Given the description of an element on the screen output the (x, y) to click on. 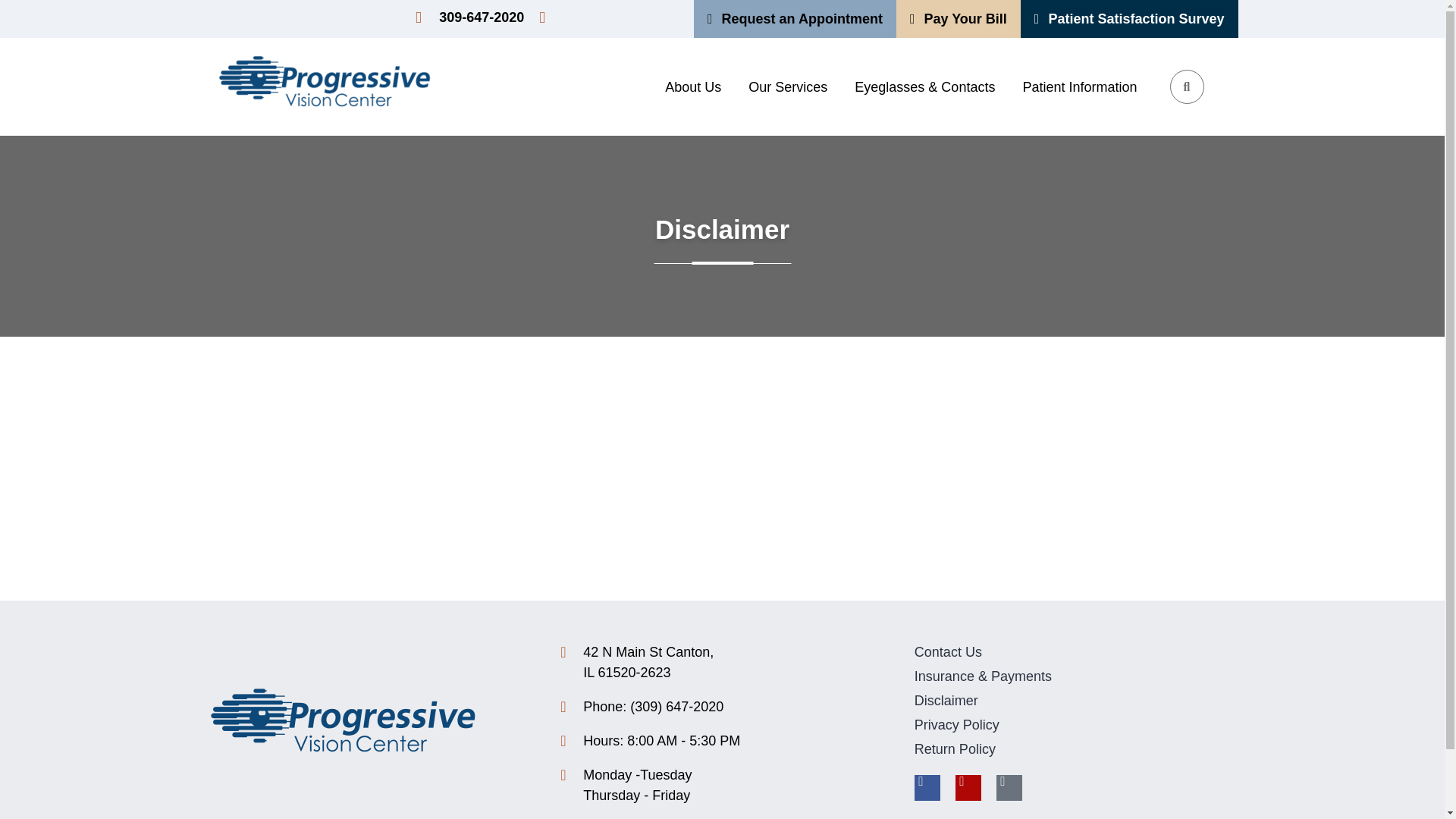
Privacy Policy (1076, 724)
Our Services (721, 784)
309-647-2020 (791, 85)
Pay Your Bill (721, 662)
Contact Us (469, 17)
Disclaimer (958, 18)
Hours: 8:00 AM - 5:30 PM (1076, 652)
About Us (1076, 701)
Patient Information (721, 741)
Request an Appointment (696, 85)
Patient Satisfaction Survey (1082, 85)
